Given the description of an element on the screen output the (x, y) to click on. 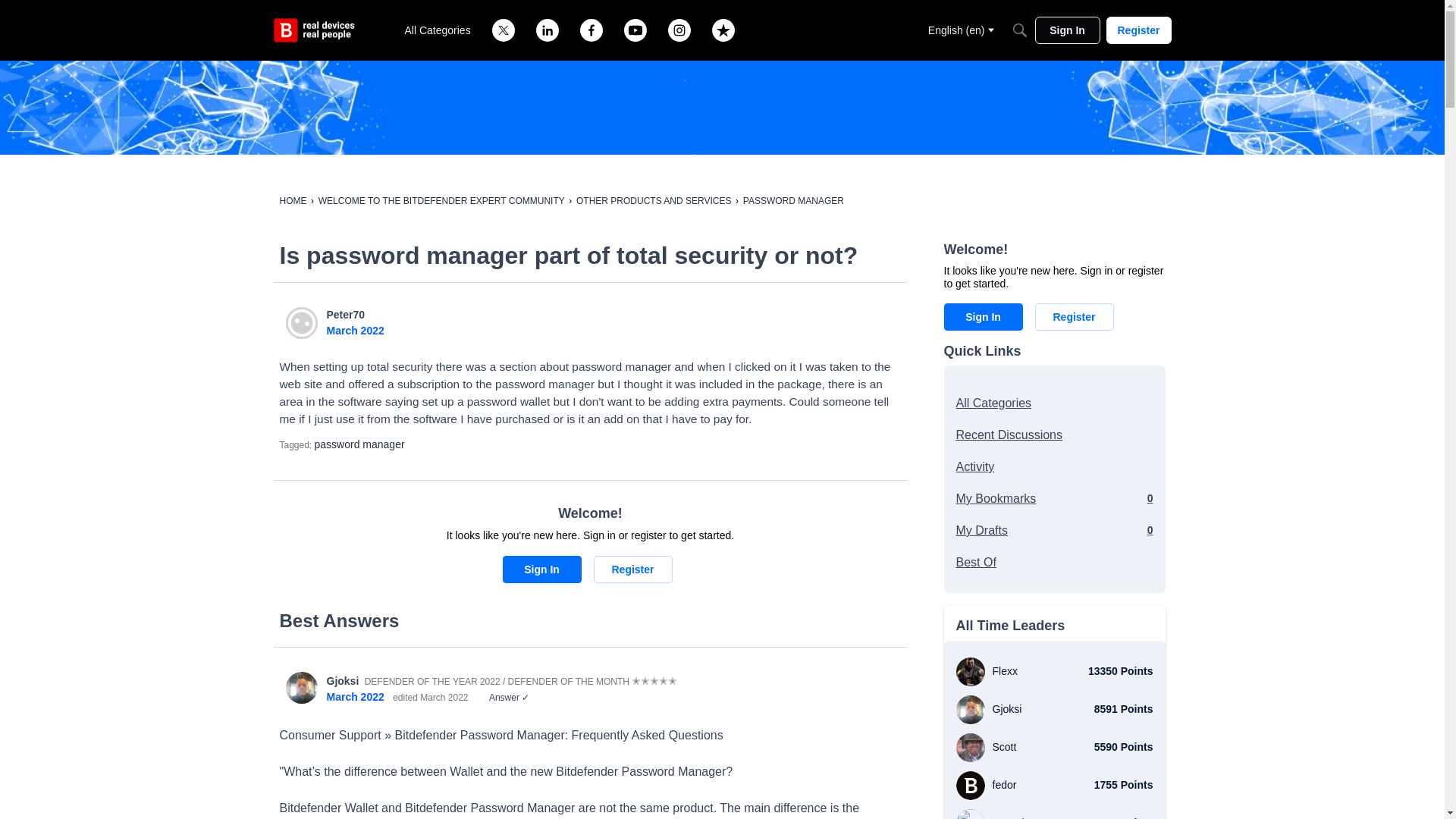
Sign In (541, 569)
March 2022 (355, 696)
March 5, 2022 9:28PM (355, 330)
Search (1019, 30)
March 2022 (355, 330)
Level 5 (654, 681)
Sign In (1066, 30)
Peter70 (345, 314)
Register (631, 569)
Register (1137, 30)
